Given the description of an element on the screen output the (x, y) to click on. 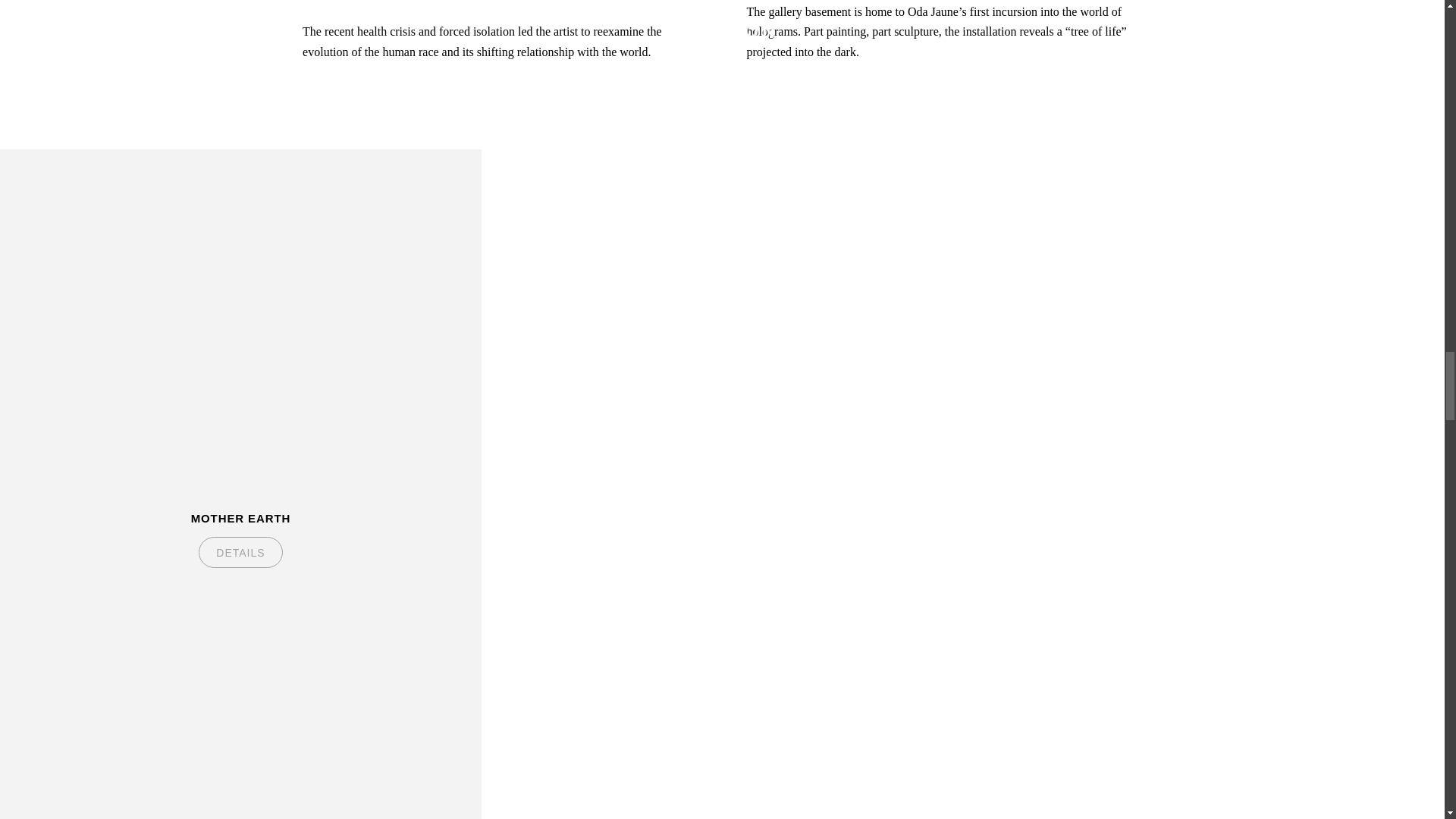
DETAILS (240, 552)
